Given the description of an element on the screen output the (x, y) to click on. 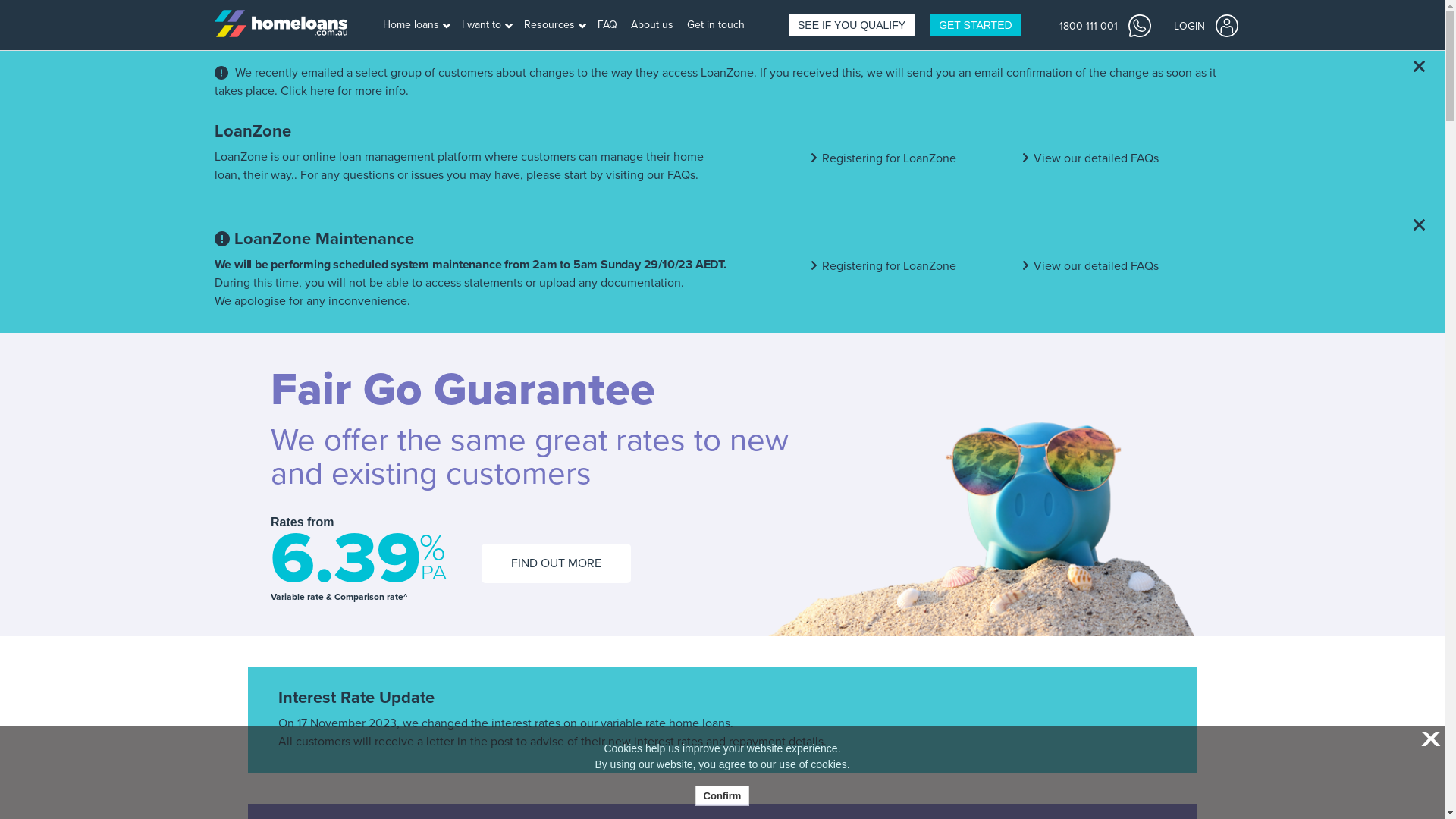
Click here Element type: text (307, 90)
Registering for LoanZone Element type: text (889, 265)
FAQ Element type: text (608, 25)
View our detailed FAQs Element type: text (1095, 158)
View our detailed FAQs Element type: text (1095, 265)
About us Element type: text (652, 25)
GET STARTED Element type: text (974, 24)
FIND OUT MORE Element type: text (555, 563)
X Element type: text (1428, 739)
Home loans Element type: text (416, 25)
Get in touch Element type: text (716, 25)
SEE IF YOU QUALIFY Element type: text (851, 24)
Confirm Element type: text (722, 795)
1800 111 001
  Element type: text (1104, 24)
I want to Element type: text (486, 25)
Resources Element type: text (555, 25)
LOGIN
  Element type: text (1205, 24)
Registering for LoanZone Element type: text (889, 158)
